Given the description of an element on the screen output the (x, y) to click on. 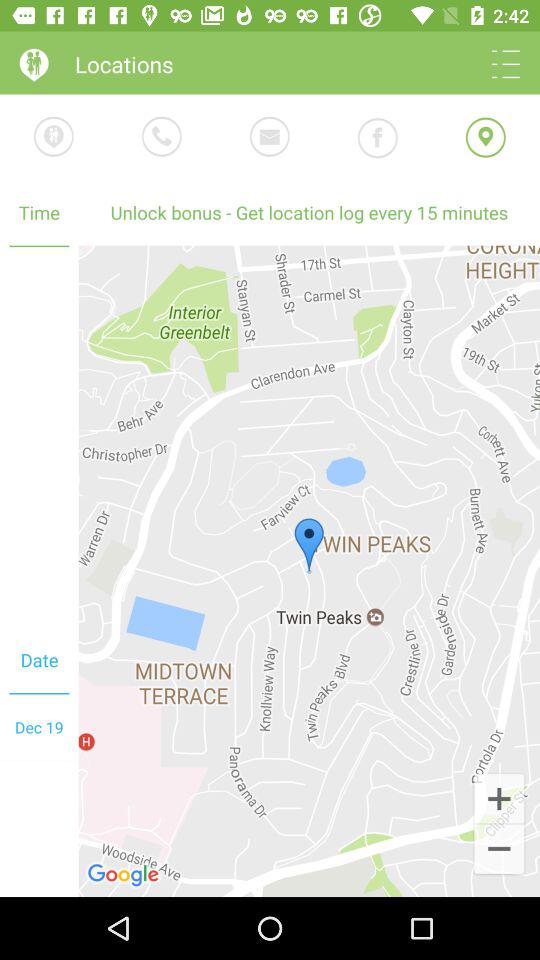
launch the dec 19 app (39, 727)
